Given the description of an element on the screen output the (x, y) to click on. 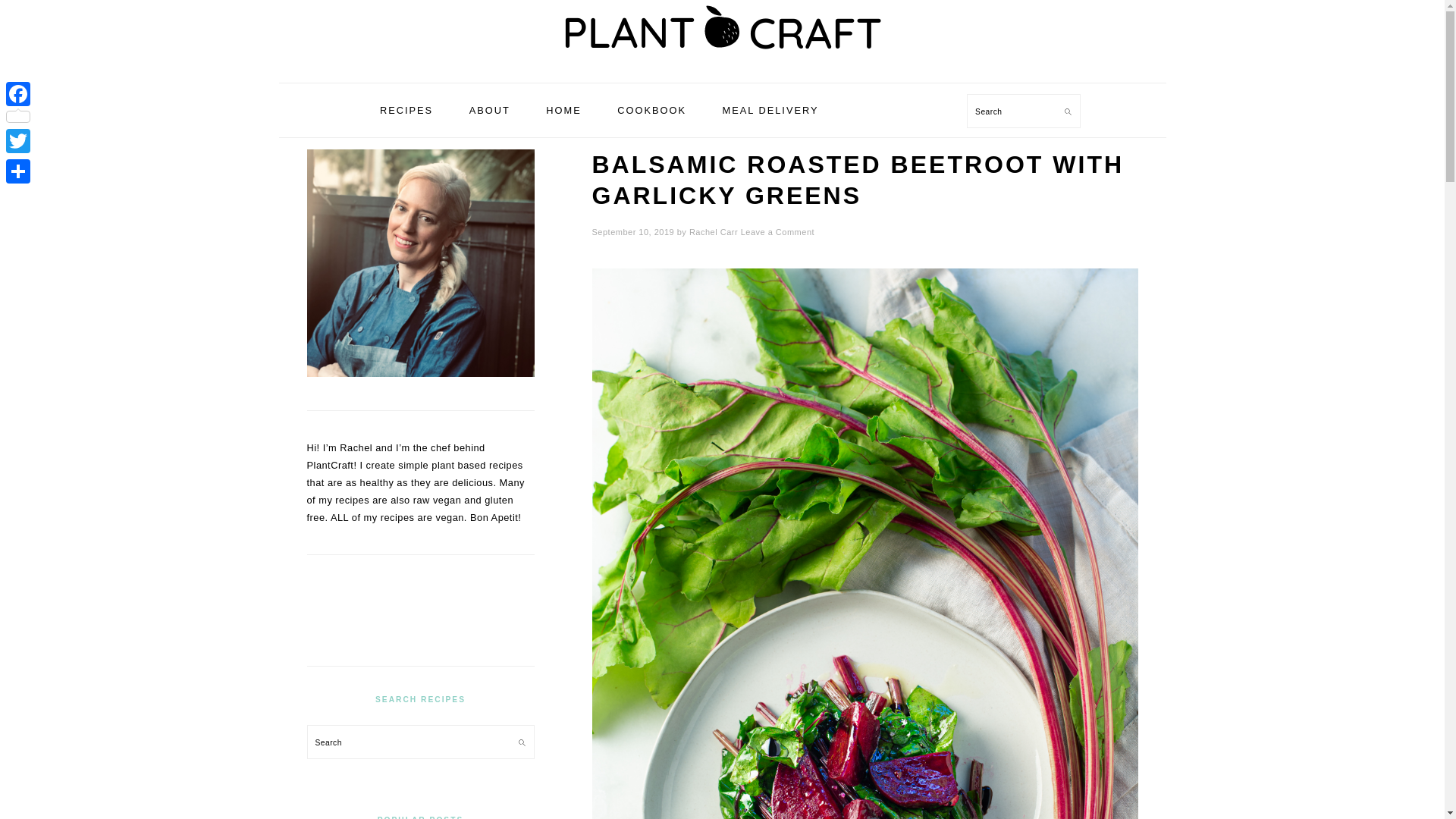
ABOUT (488, 109)
COOKBOOK (651, 109)
Twitter (17, 141)
Plant Craft (721, 31)
Leave a Comment (777, 231)
Plant Craft (721, 65)
Rachel Carr (713, 231)
RECIPES (406, 109)
MEAL DELIVERY (770, 109)
